Given the description of an element on the screen output the (x, y) to click on. 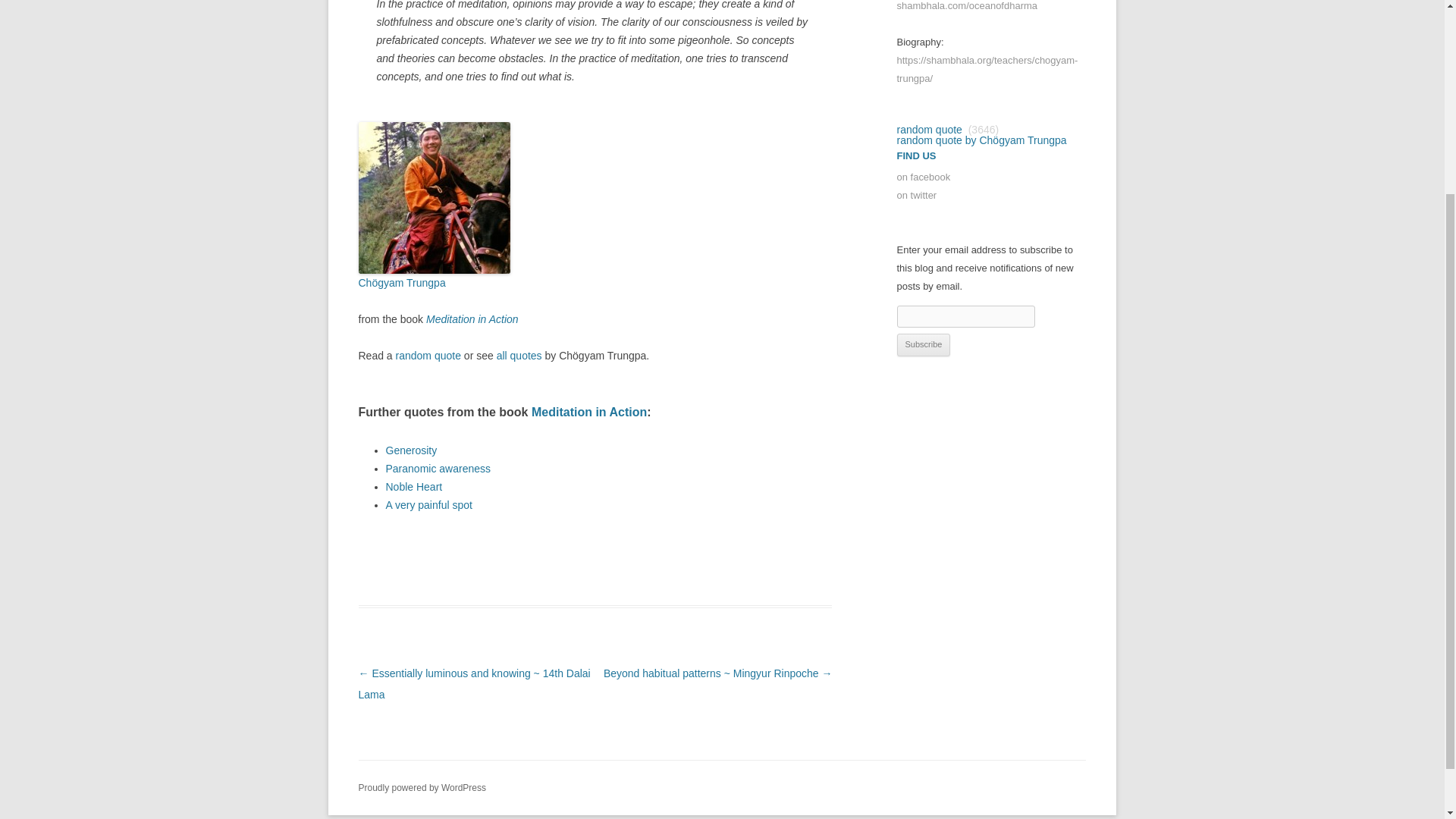
Meditation in Action (588, 411)
Semantic Personal Publishing Platform (422, 787)
Subscribe (923, 344)
on facebook (923, 176)
A very painful spot (428, 504)
all quotes (518, 355)
random quote (928, 129)
Subscribe (923, 344)
Generosity (410, 450)
Noble Heart (413, 486)
